Given the description of an element on the screen output the (x, y) to click on. 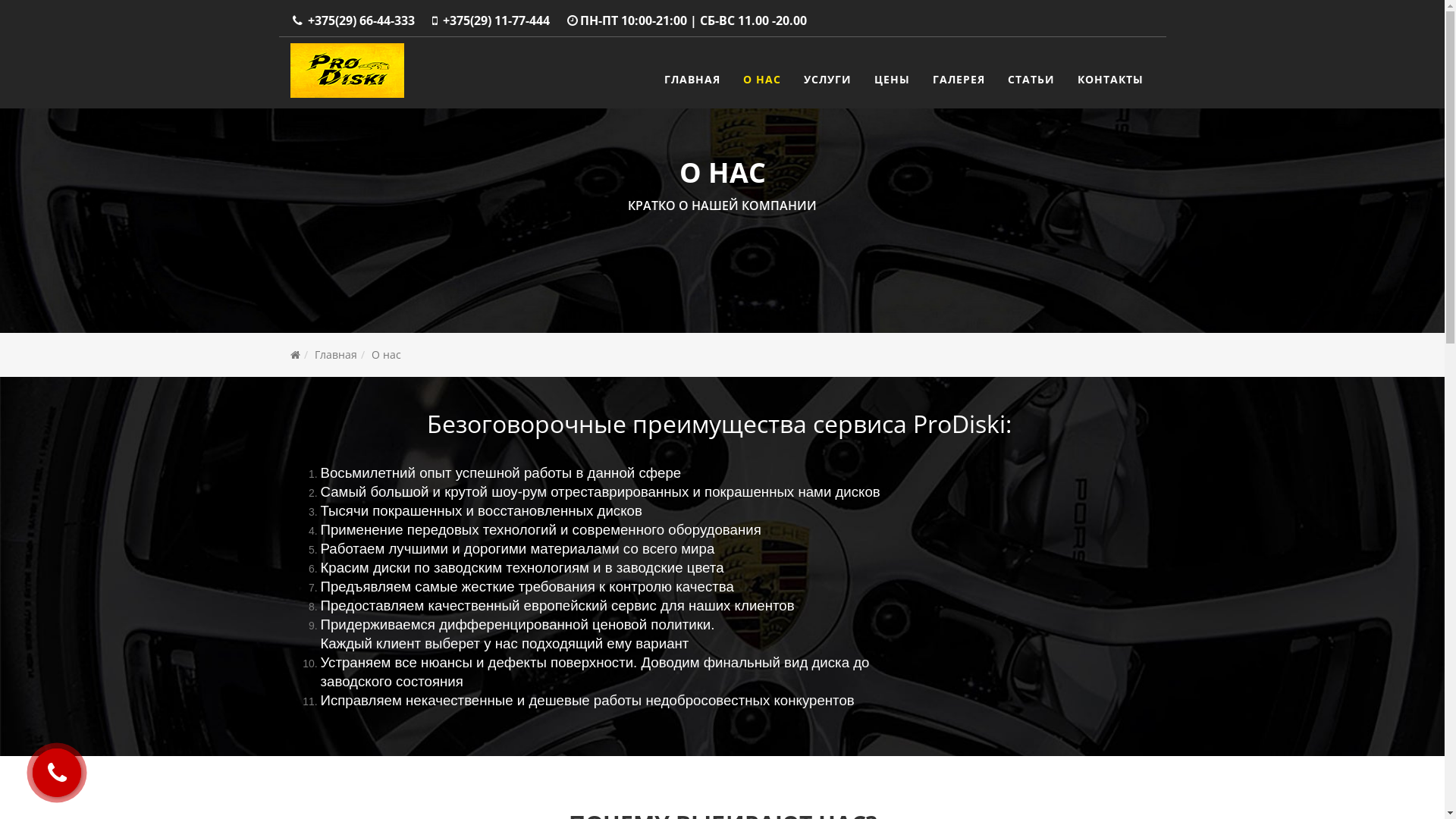
+375(29) 66-44-333 Element type: text (360, 20)
+375(29) 11-77-444 Element type: text (495, 20)
